Given the description of an element on the screen output the (x, y) to click on. 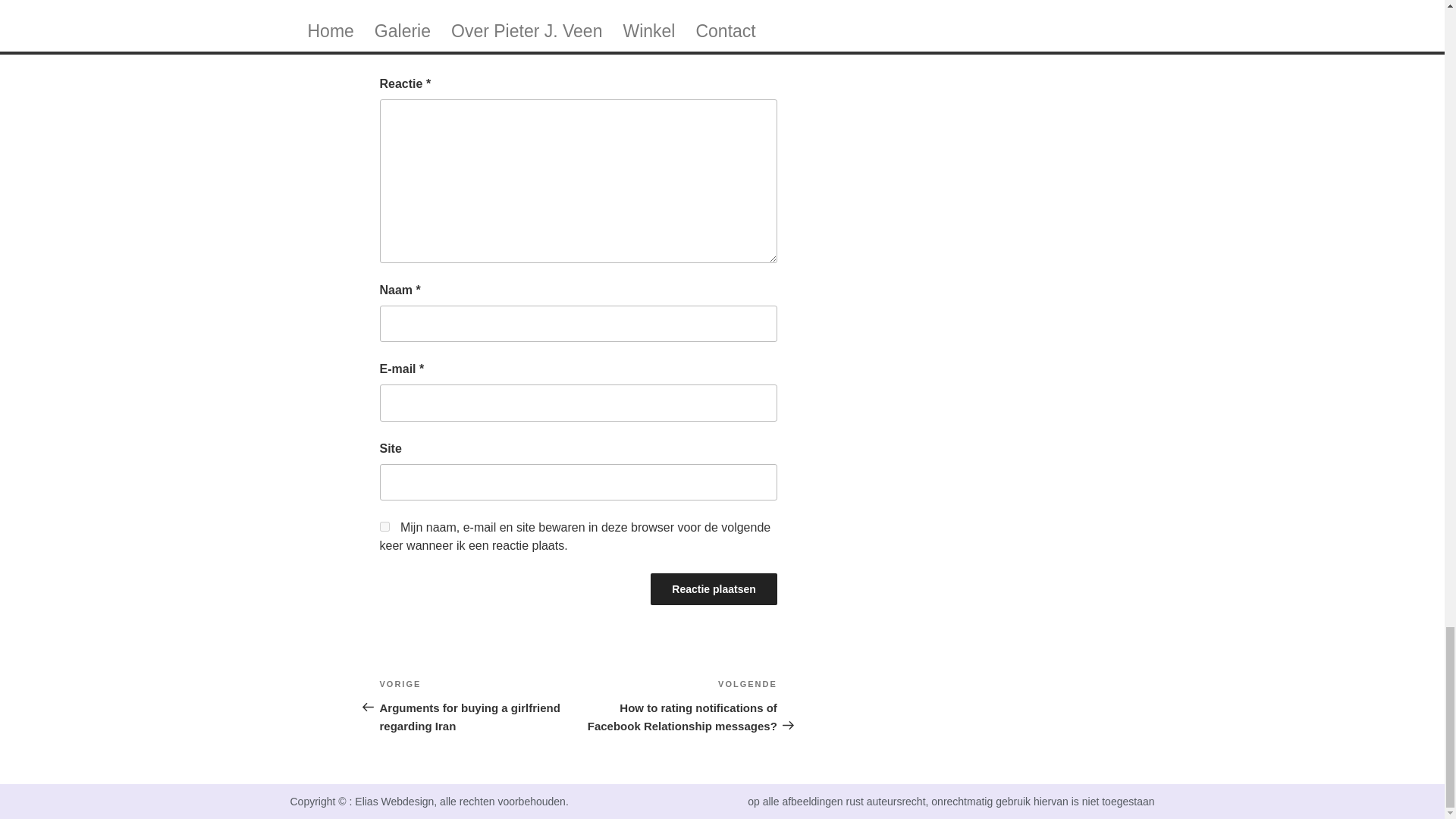
Elias Webdesign (394, 801)
Reactie plaatsen (713, 589)
Reactie plaatsen (713, 589)
yes (478, 705)
